Given the description of an element on the screen output the (x, y) to click on. 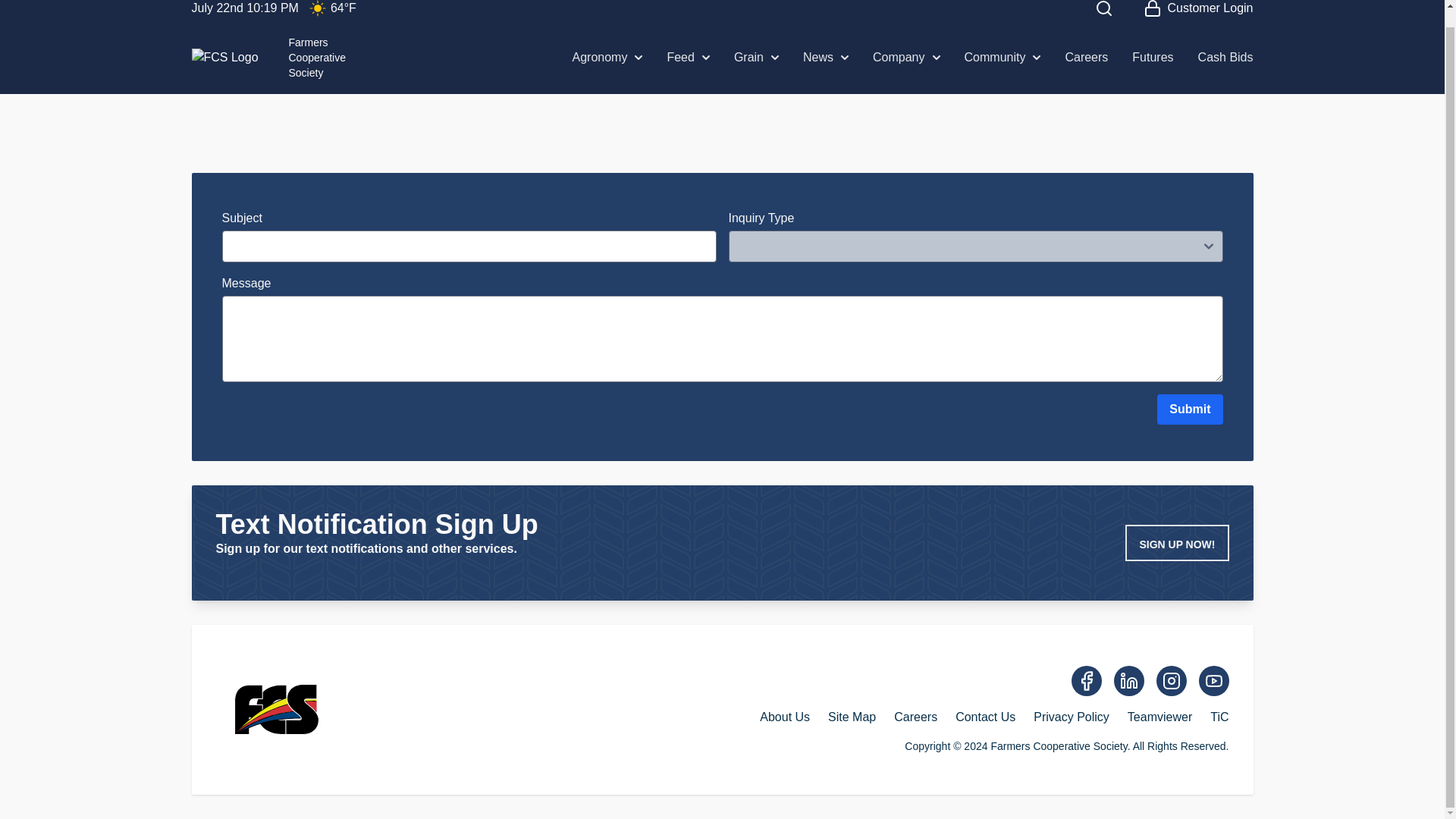
Feed (268, 57)
News (687, 57)
Customer Login (825, 57)
Grain (1197, 10)
Agronomy (755, 57)
Sunny (607, 57)
Company (317, 10)
